Given the description of an element on the screen output the (x, y) to click on. 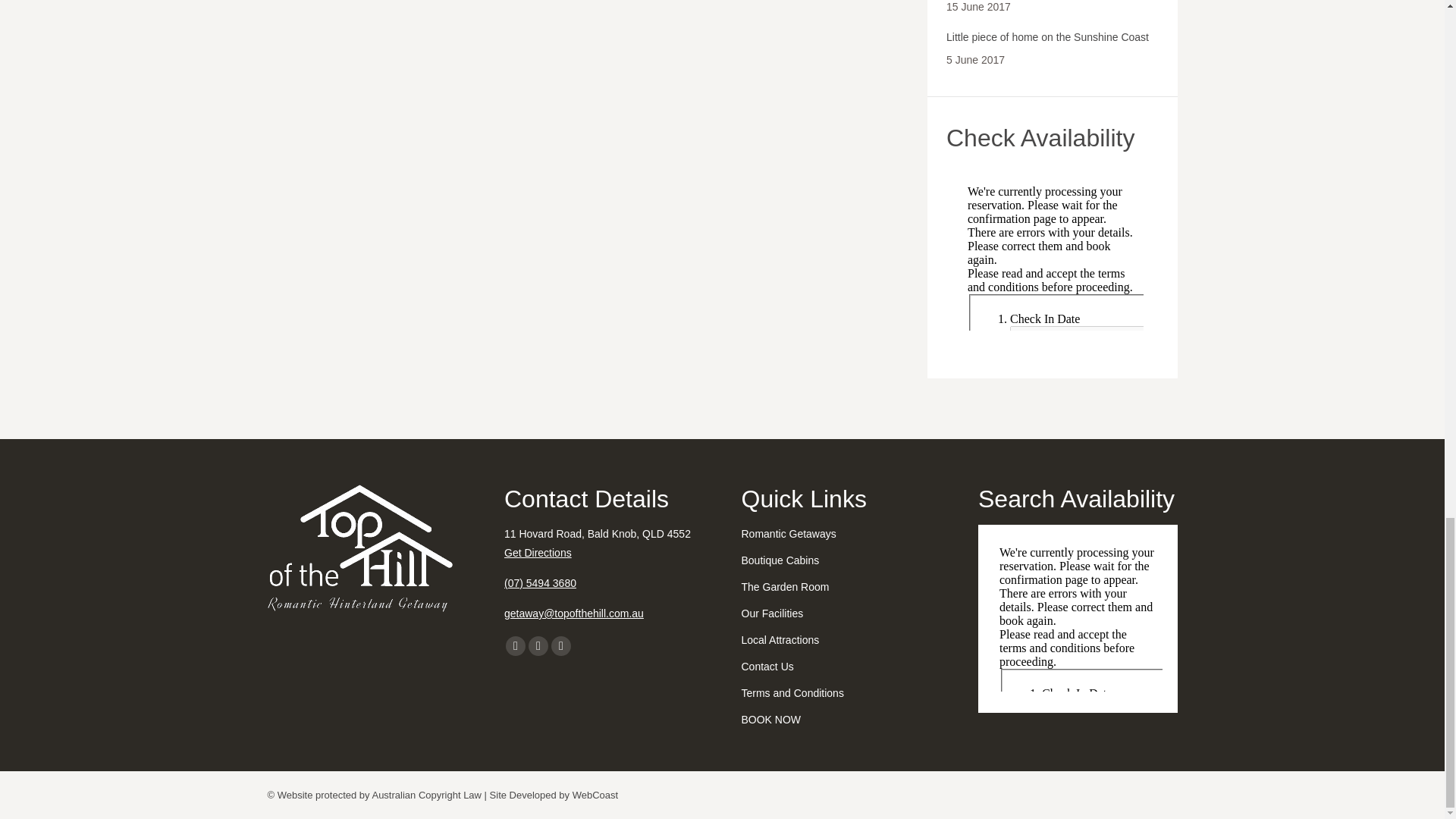
Instagram page opens in new window (538, 646)
Facebook page opens in new window (515, 646)
TripAdvisor page opens in new window (560, 646)
